Given the description of an element on the screen output the (x, y) to click on. 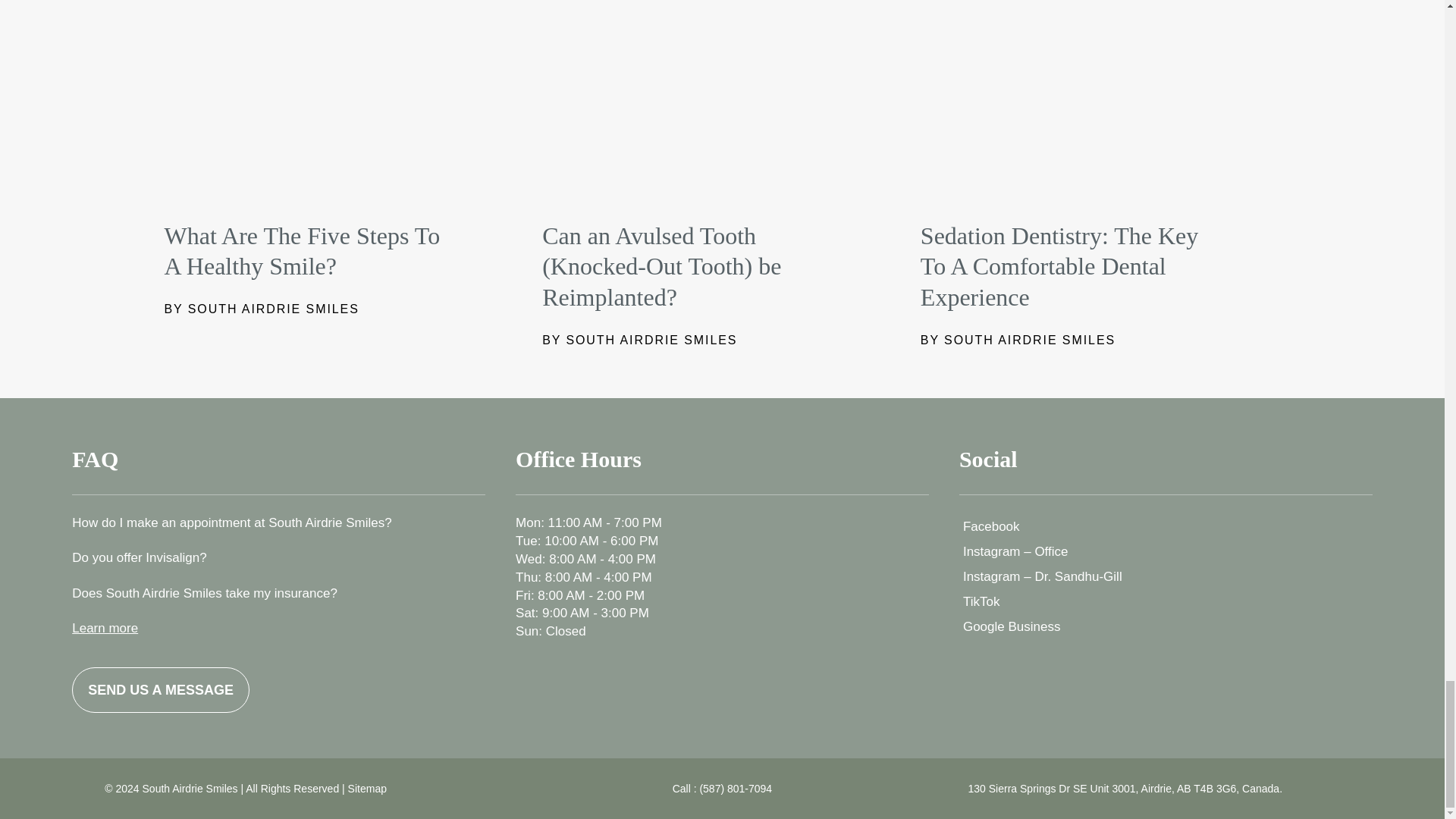
Sitemap (367, 788)
Learn more (104, 627)
SEND US A MESSAGE (159, 689)
Facebook (1166, 526)
Google Business (1166, 626)
TikTok (1166, 601)
What Are The Five Steps To A Healthy Smile? (301, 250)
